Given the description of an element on the screen output the (x, y) to click on. 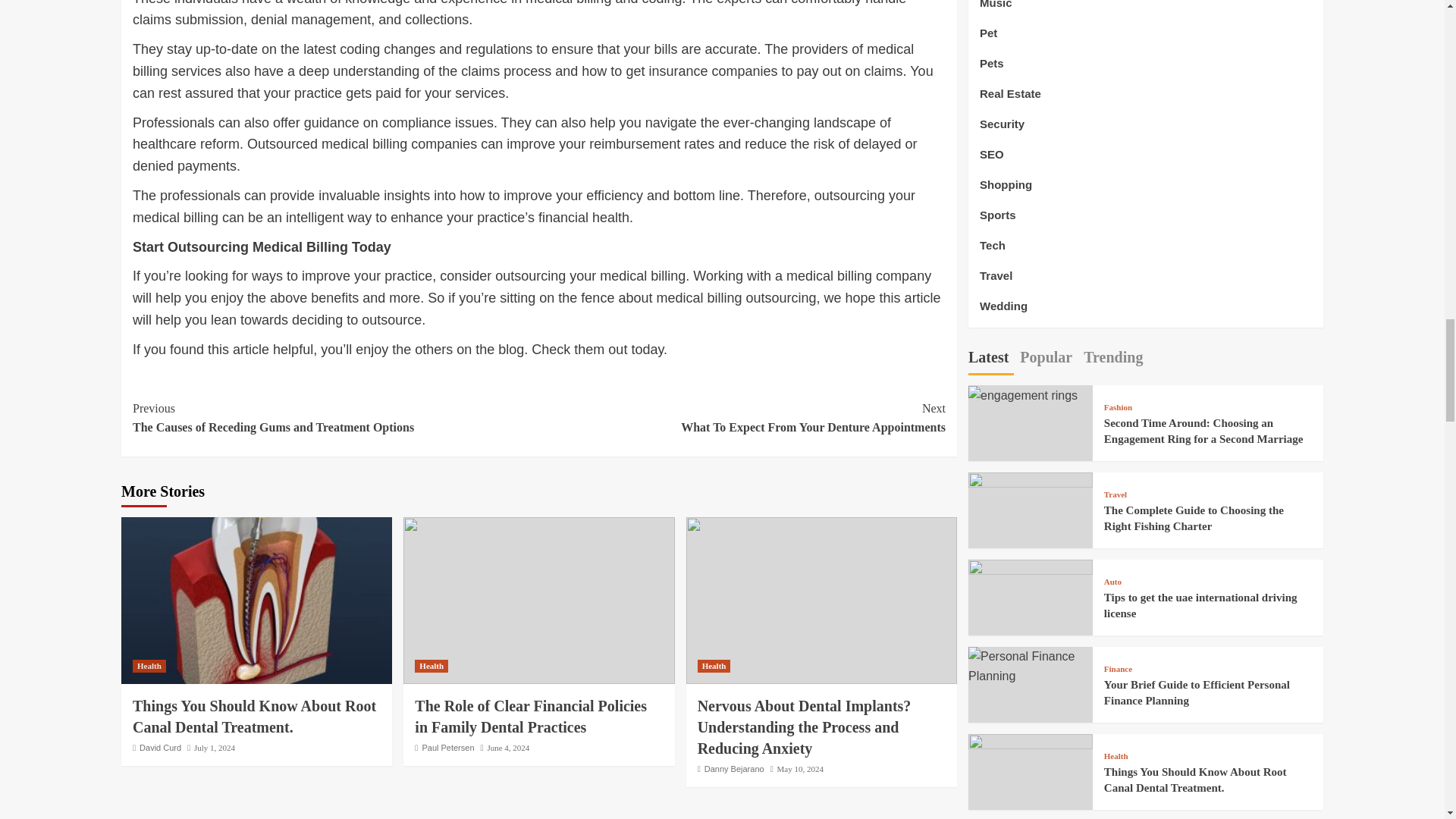
May 10, 2024 (799, 768)
Danny Bejarano (734, 768)
Health (713, 666)
Paul Petersen (448, 747)
Health (431, 666)
Things You Should Know About Root Canal Dental Treatment. (741, 417)
July 1, 2024 (253, 716)
Health (213, 747)
David Curd (148, 666)
June 4, 2024 (159, 747)
